Given the description of an element on the screen output the (x, y) to click on. 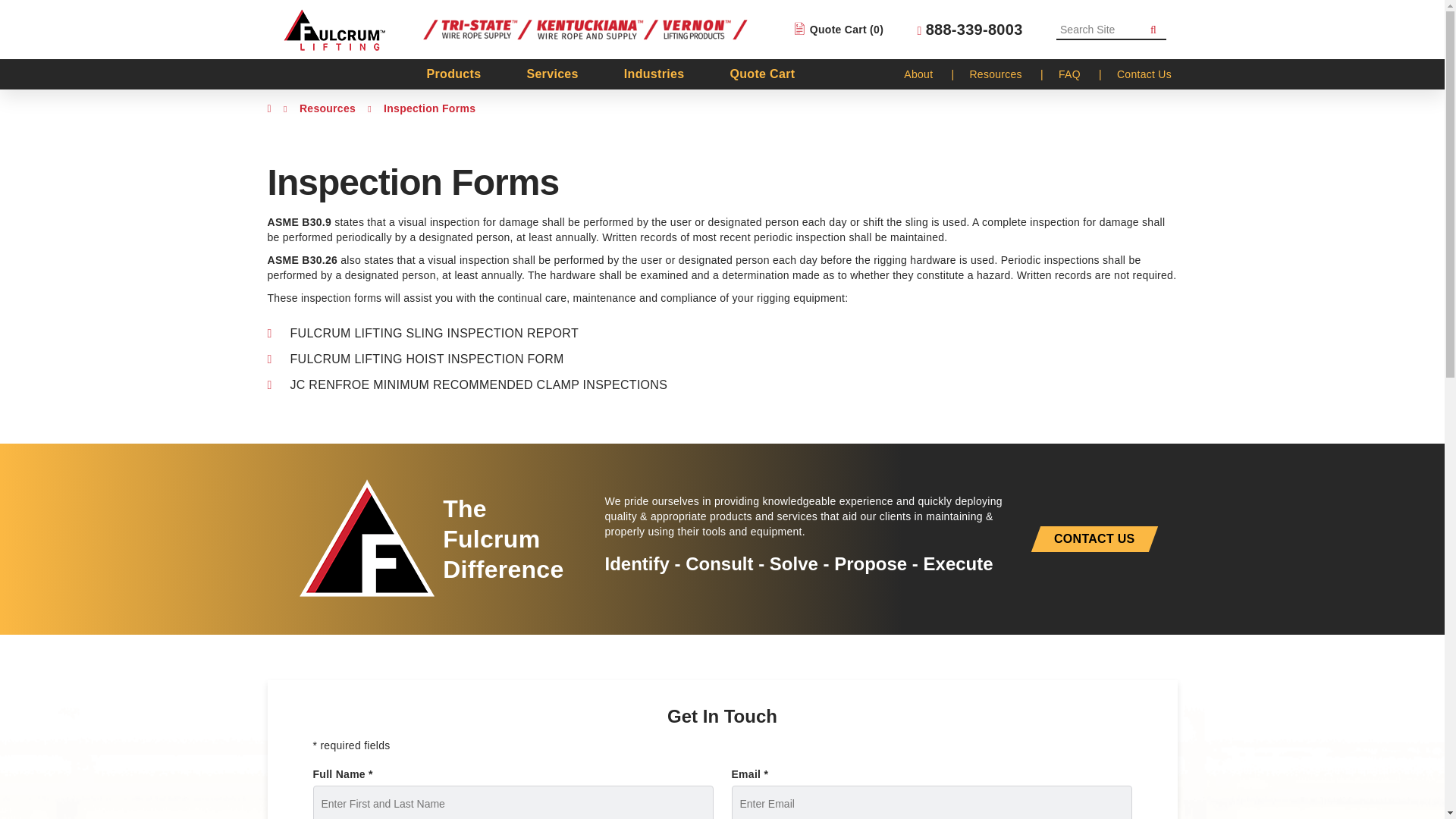
Products (453, 74)
Home - Fulcrum Lifting (333, 29)
GO (1153, 31)
888-339-8003 (970, 29)
